Given the description of an element on the screen output the (x, y) to click on. 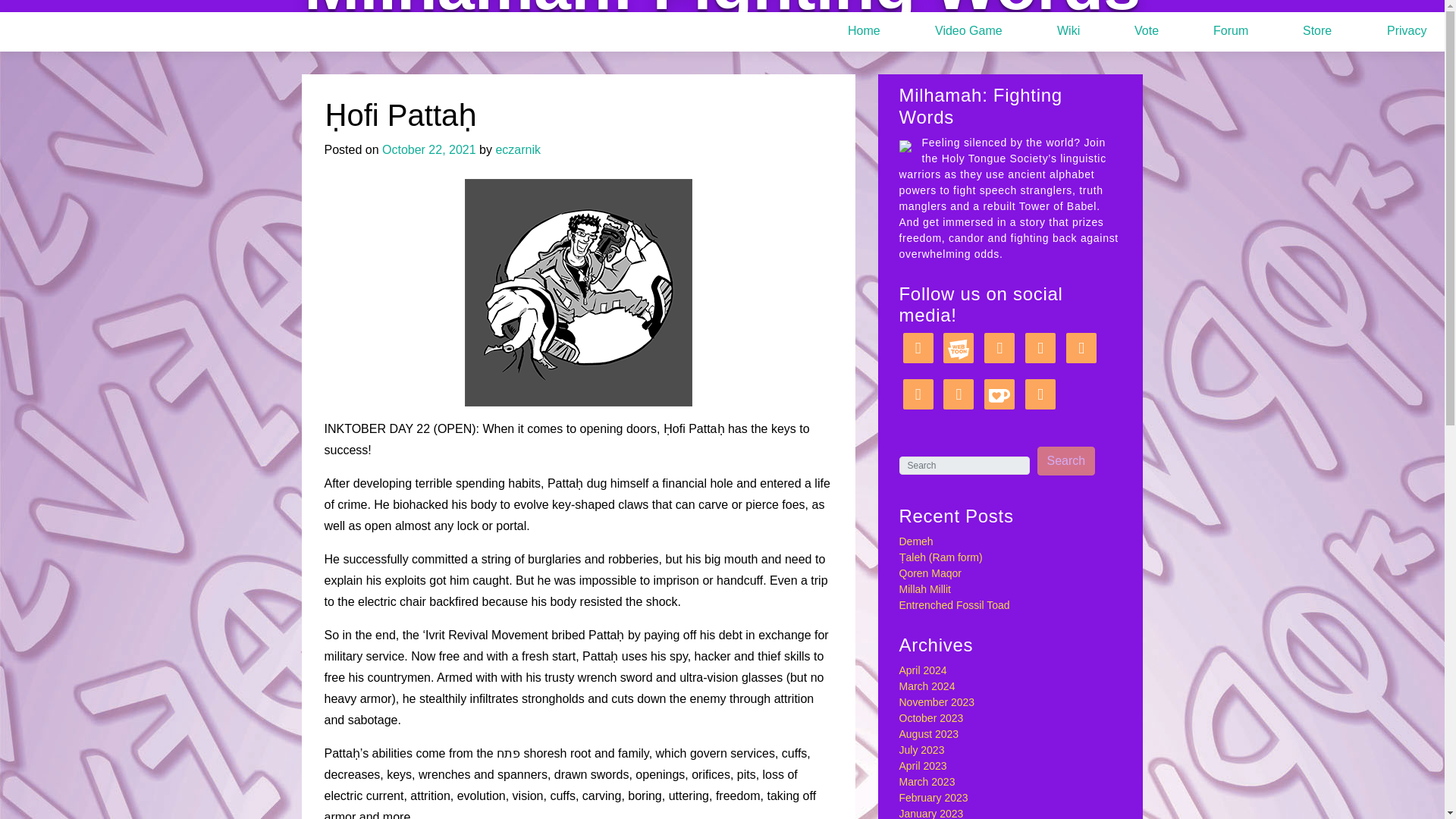
October 22, 2021 (428, 149)
Video Game (947, 31)
Twitter (1040, 347)
Wiki (1047, 31)
DeviantArt (917, 393)
Privacy (1385, 31)
Line Webtoon (958, 347)
Video Game (947, 31)
November 2023 (937, 702)
August 2023 (929, 734)
